Given the description of an element on the screen output the (x, y) to click on. 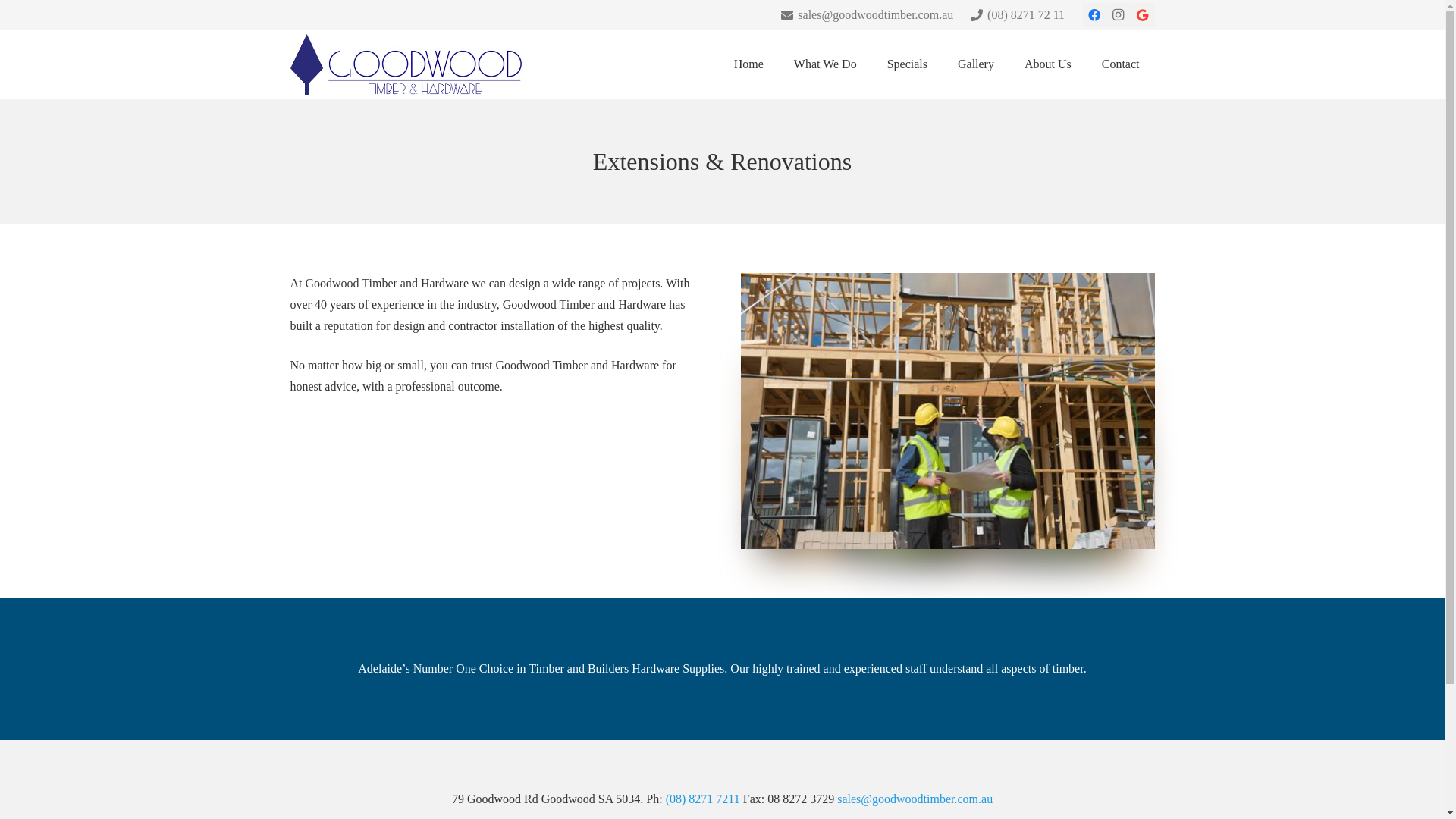
About Us Element type: text (1047, 64)
What We Do Element type: text (825, 64)
Contact Element type: text (1120, 64)
Facebook Element type: hover (1093, 15)
Google Element type: hover (1141, 15)
Specials Element type: text (907, 64)
(08) 8271 72 11 Element type: text (1017, 14)
Gallery Element type: text (975, 64)
sales@goodwoodtimber.com.au Element type: text (914, 798)
Instagram Element type: hover (1117, 15)
(08) 8271 7211 Element type: text (702, 798)
Home Element type: text (748, 64)
sales@goodwoodtimber.com.au Element type: text (867, 14)
